Given the description of an element on the screen output the (x, y) to click on. 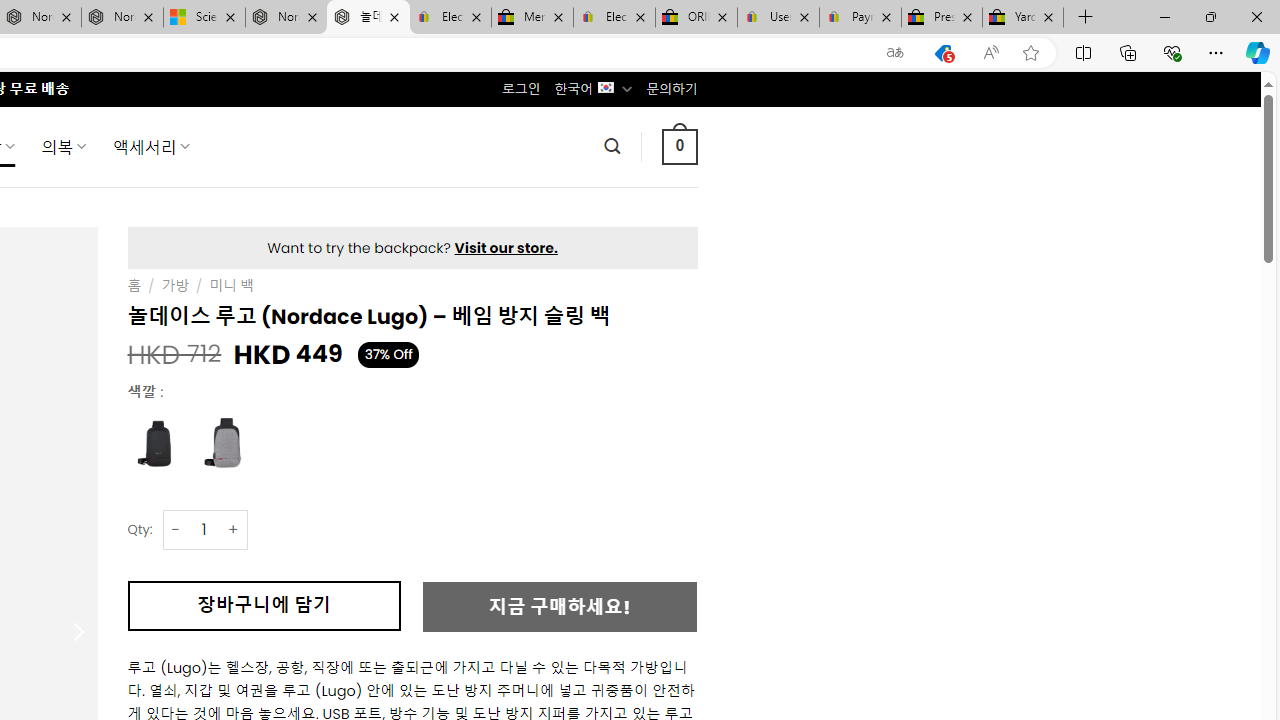
- (175, 529)
Visit our store. (506, 247)
